Given the description of an element on the screen output the (x, y) to click on. 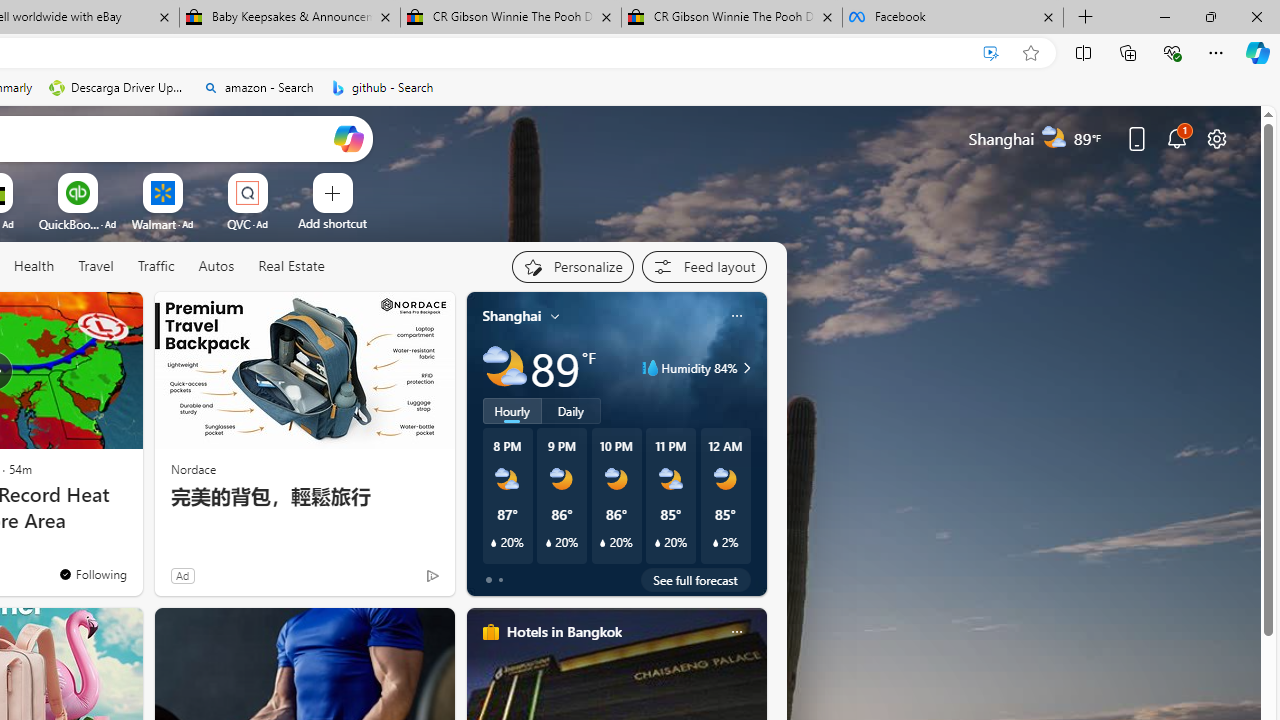
github - Search (381, 88)
Autos (216, 267)
Travel (95, 267)
Real Estate (291, 265)
Class: weather-current-precipitation-glyph (715, 543)
You're following The Weather Channel (92, 573)
Real Estate (290, 267)
Partly cloudy (504, 368)
